Given the description of an element on the screen output the (x, y) to click on. 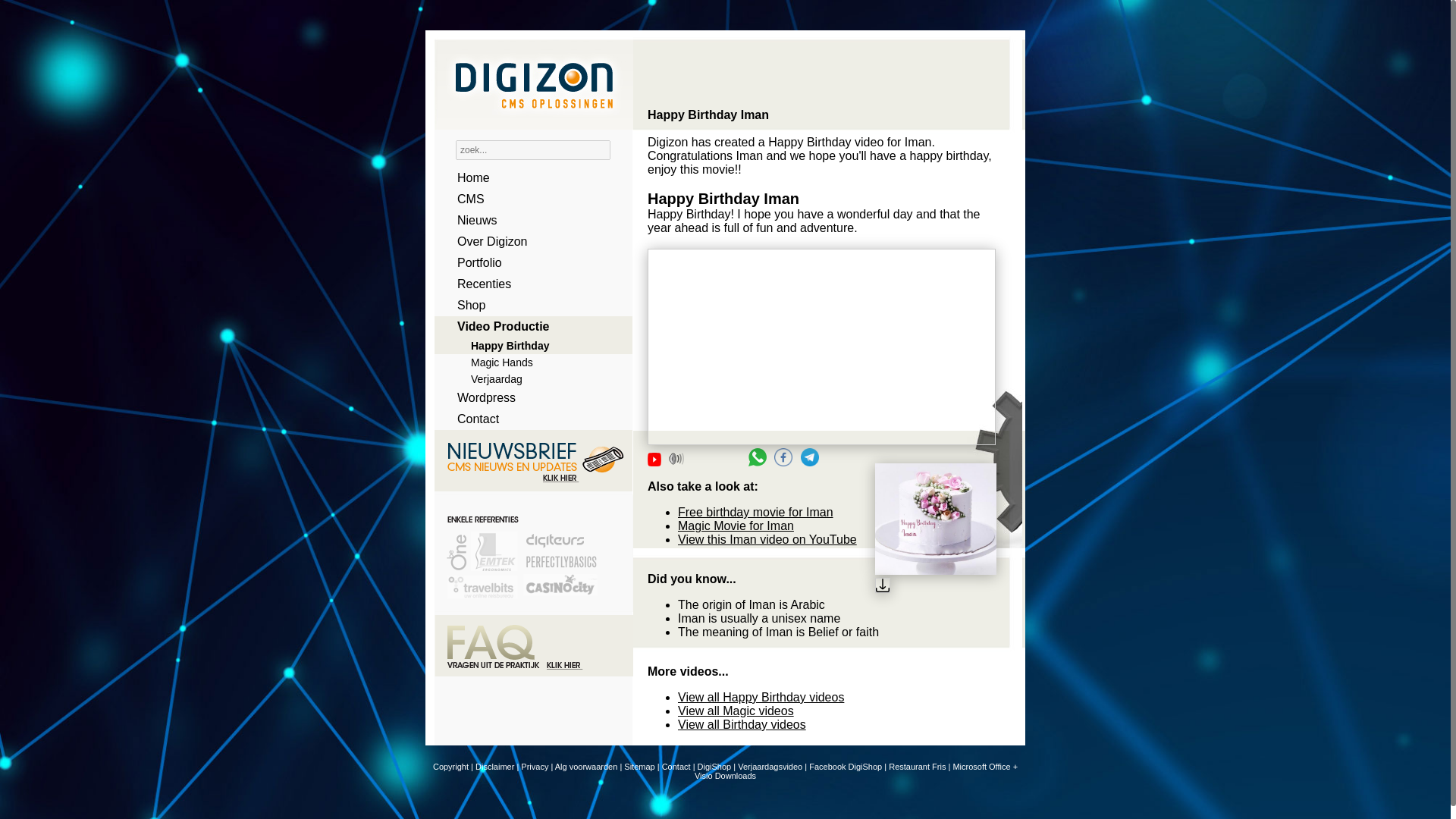
Home (528, 178)
View all Birthday videos (742, 724)
Wordpress (528, 397)
Contact (676, 766)
Download (935, 587)
Sitemap (638, 766)
Verjaardagsvideo (770, 766)
Verjaardag (528, 379)
Free birthday movie for Iman (755, 512)
View all Magic videos (735, 710)
Magic Hands (528, 362)
Happy Birthday (528, 345)
Pronounce Iman (676, 458)
Happy Birthday Iman (821, 346)
Privacy (534, 766)
